Given the description of an element on the screen output the (x, y) to click on. 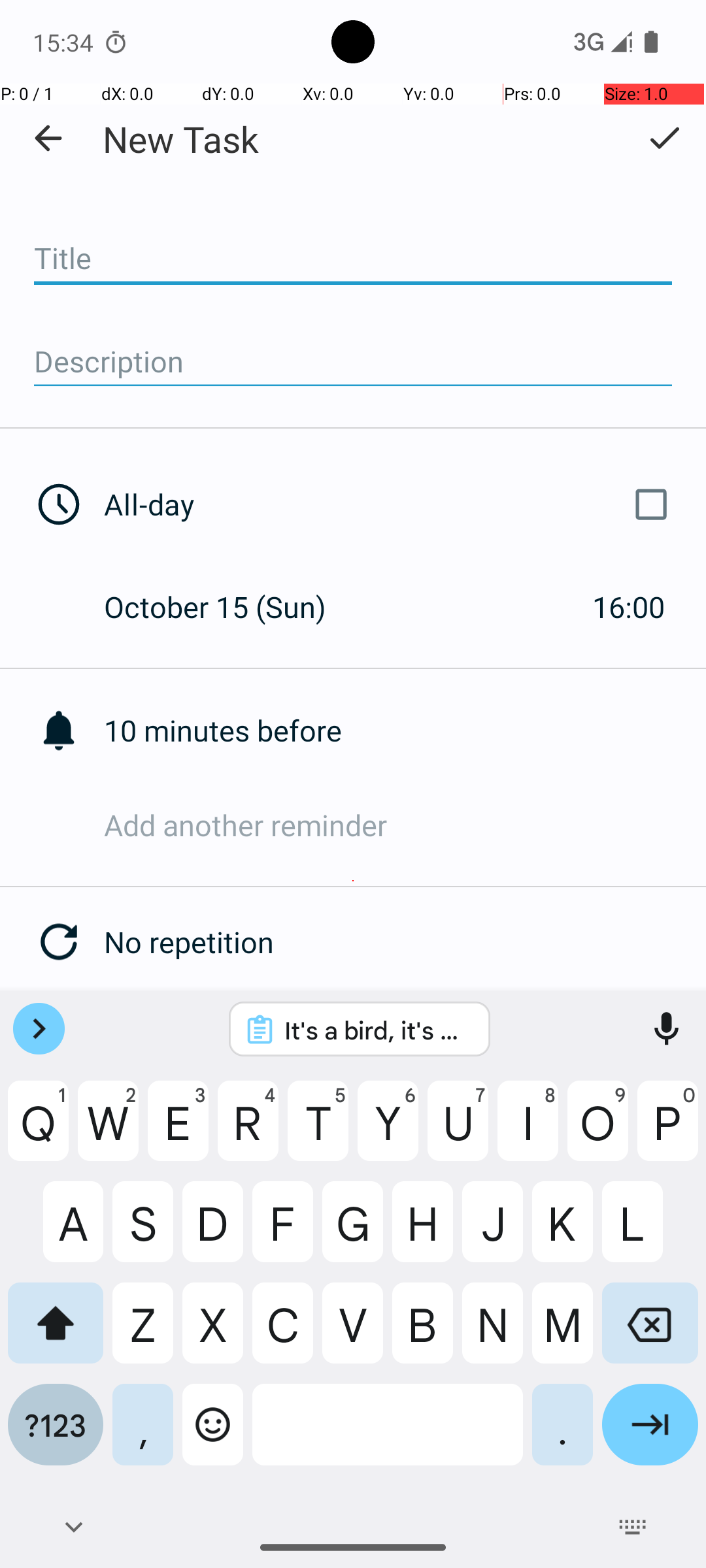
New Task Element type: android.widget.TextView (180, 138)
